Given the description of an element on the screen output the (x, y) to click on. 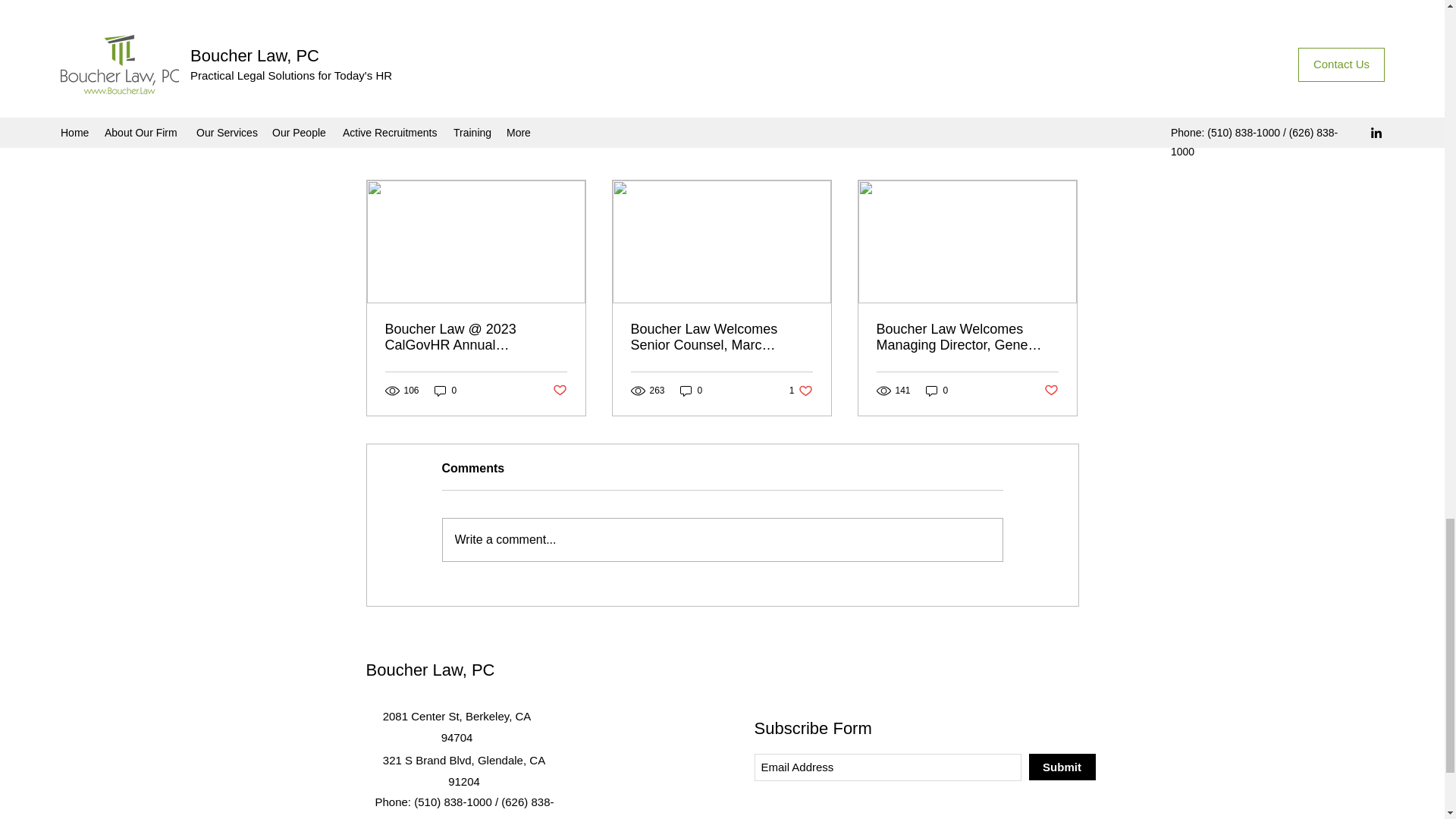
Post not marked as liked (995, 70)
0 (937, 391)
See All (1061, 153)
0 (800, 391)
Boucher Law Welcomes Managing Director, Gene Boucher (445, 391)
Post not marked as liked (967, 336)
Boucher Law Welcomes Senior Counsel, Marc Zafferano (558, 390)
0 (721, 336)
